Given the description of an element on the screen output the (x, y) to click on. 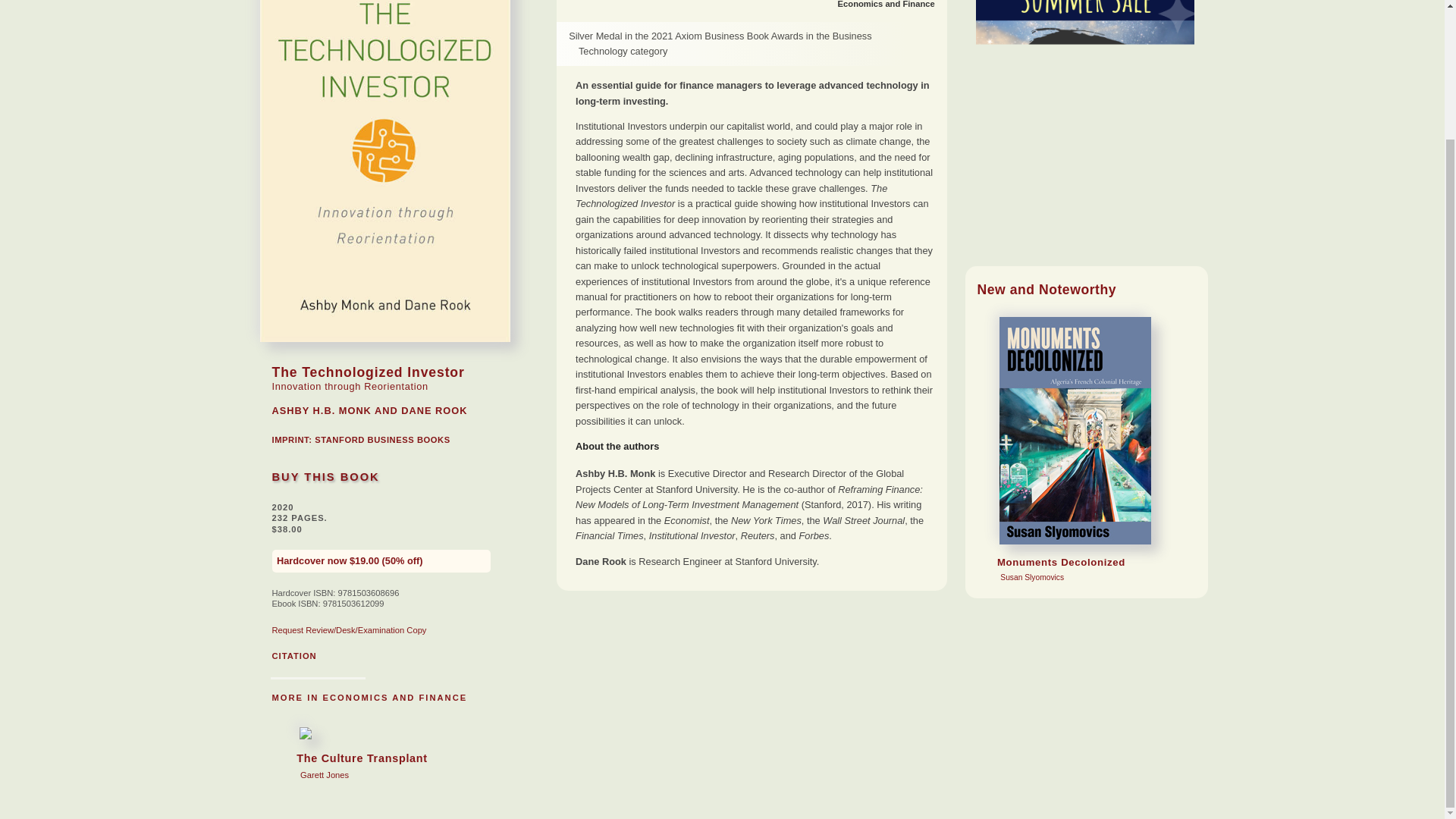
BUY THIS BOOK (324, 476)
STANFORD BUSINESS BOOKS (381, 439)
MORE IN ECONOMICS AND FINANCE (352, 753)
Economics and Finance (368, 696)
CITATION (886, 4)
